Given the description of an element on the screen output the (x, y) to click on. 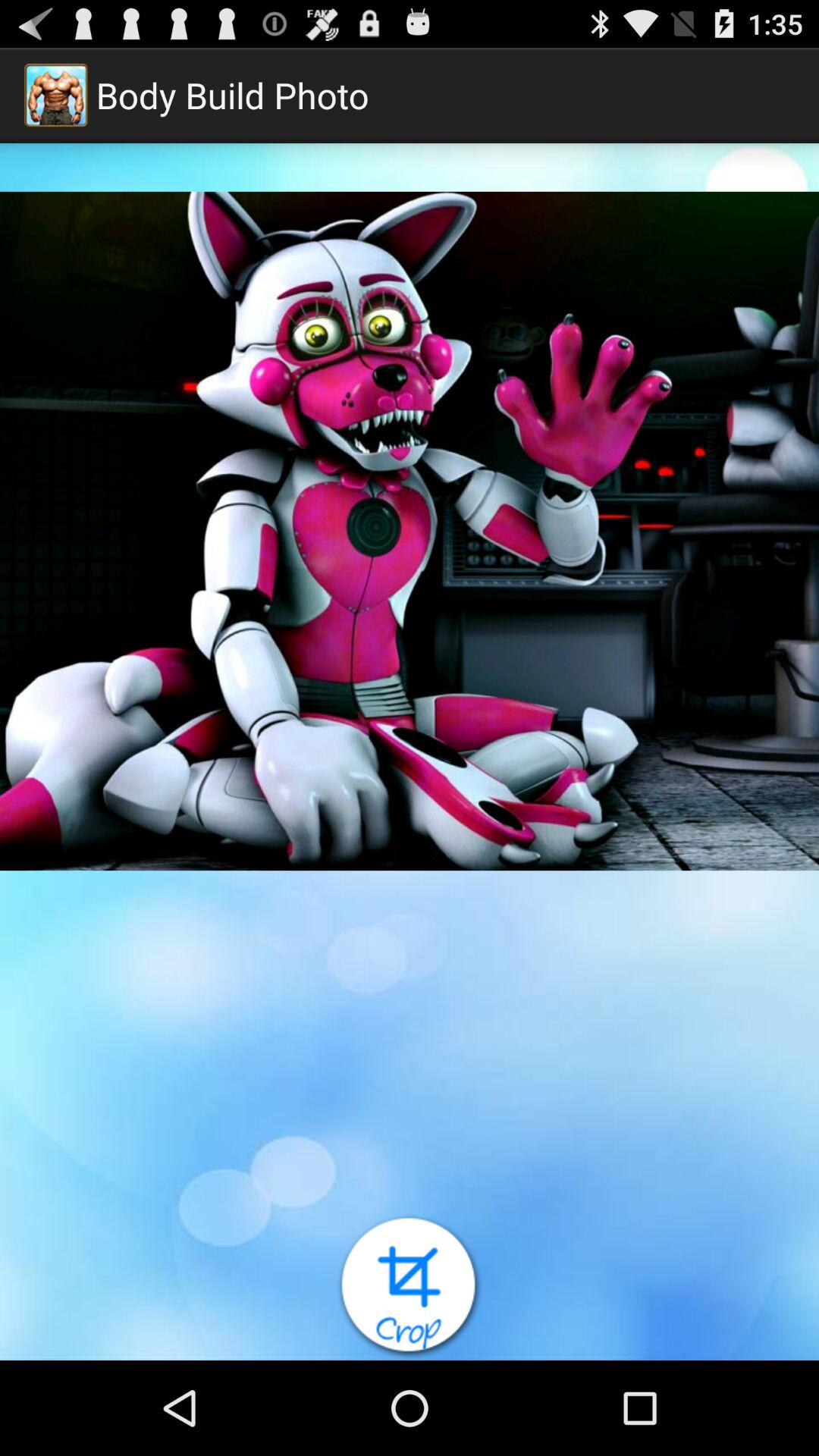
crop this picture (409, 1287)
